Given the description of an element on the screen output the (x, y) to click on. 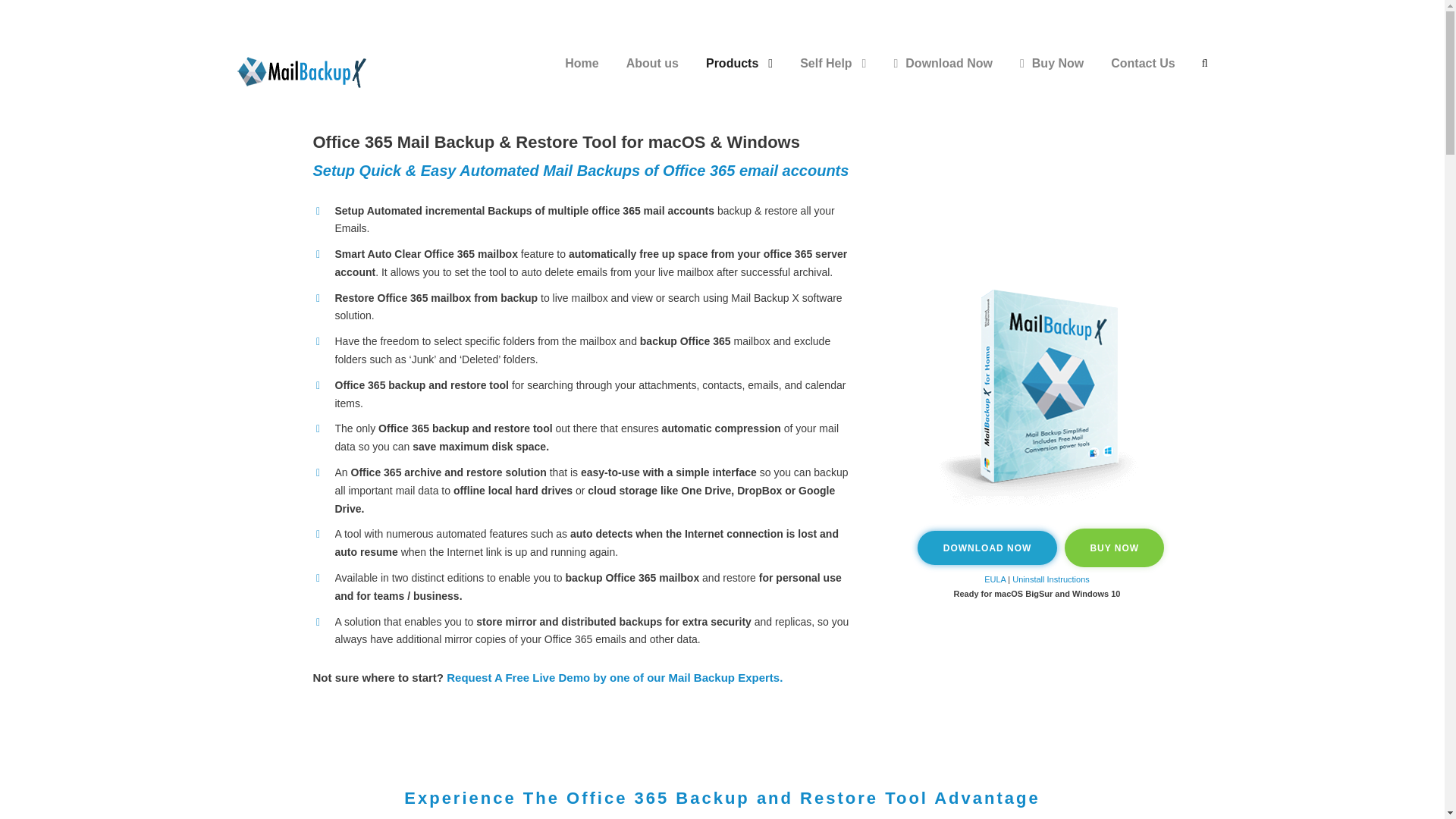
EULA (995, 578)
DOWNLOAD NOW (987, 547)
mailbackupx-logo (303, 71)
Buy Now (1051, 76)
About us (652, 76)
Request A Free Live Demo by one of our Mail Backup Experts. (614, 676)
BUY NOW (1113, 547)
Instructions (1066, 578)
Uninstall (1027, 578)
Contact Us (1142, 76)
